Given the description of an element on the screen output the (x, y) to click on. 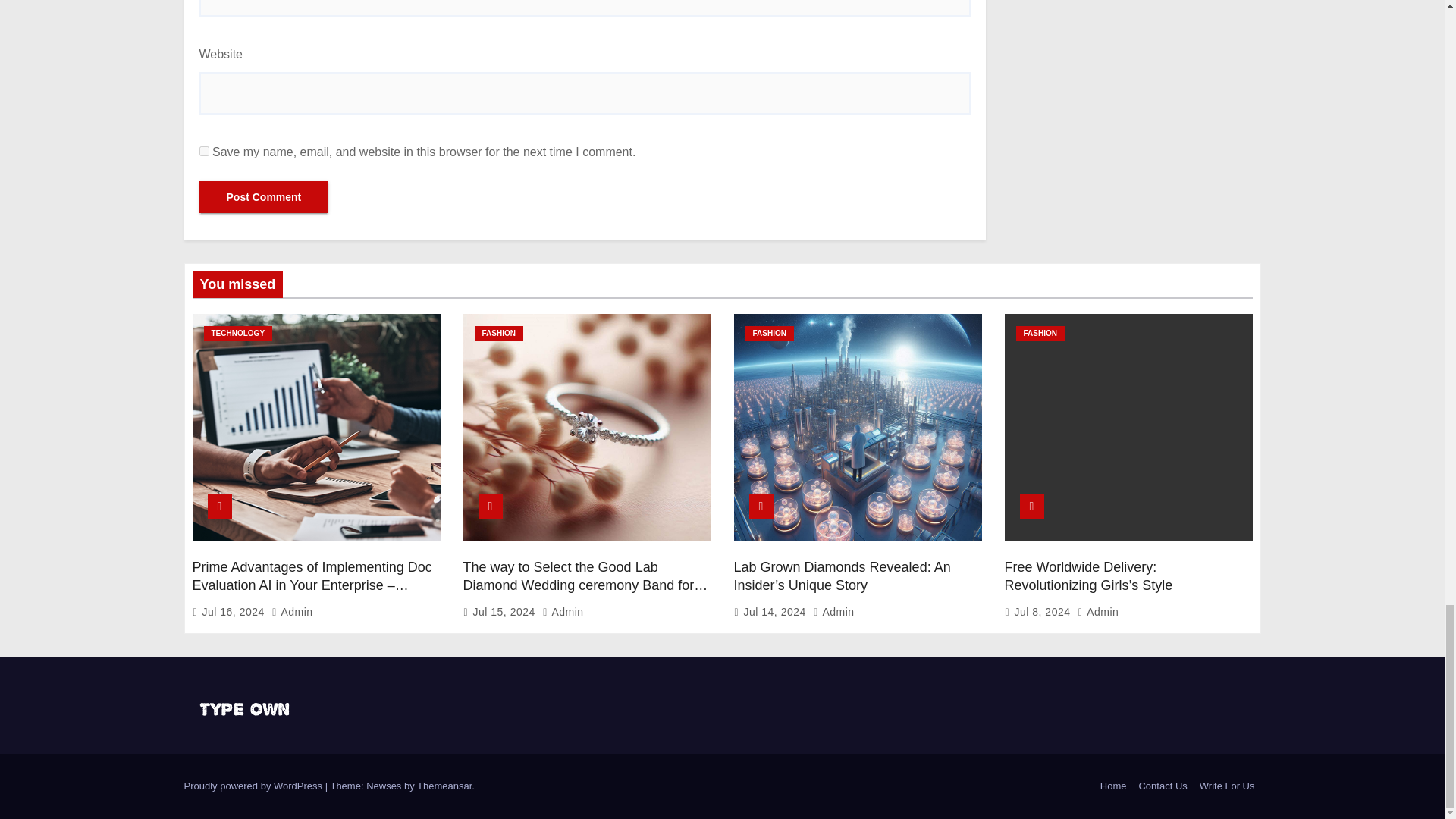
Post Comment (263, 196)
yes (203, 151)
